Given the description of an element on the screen output the (x, y) to click on. 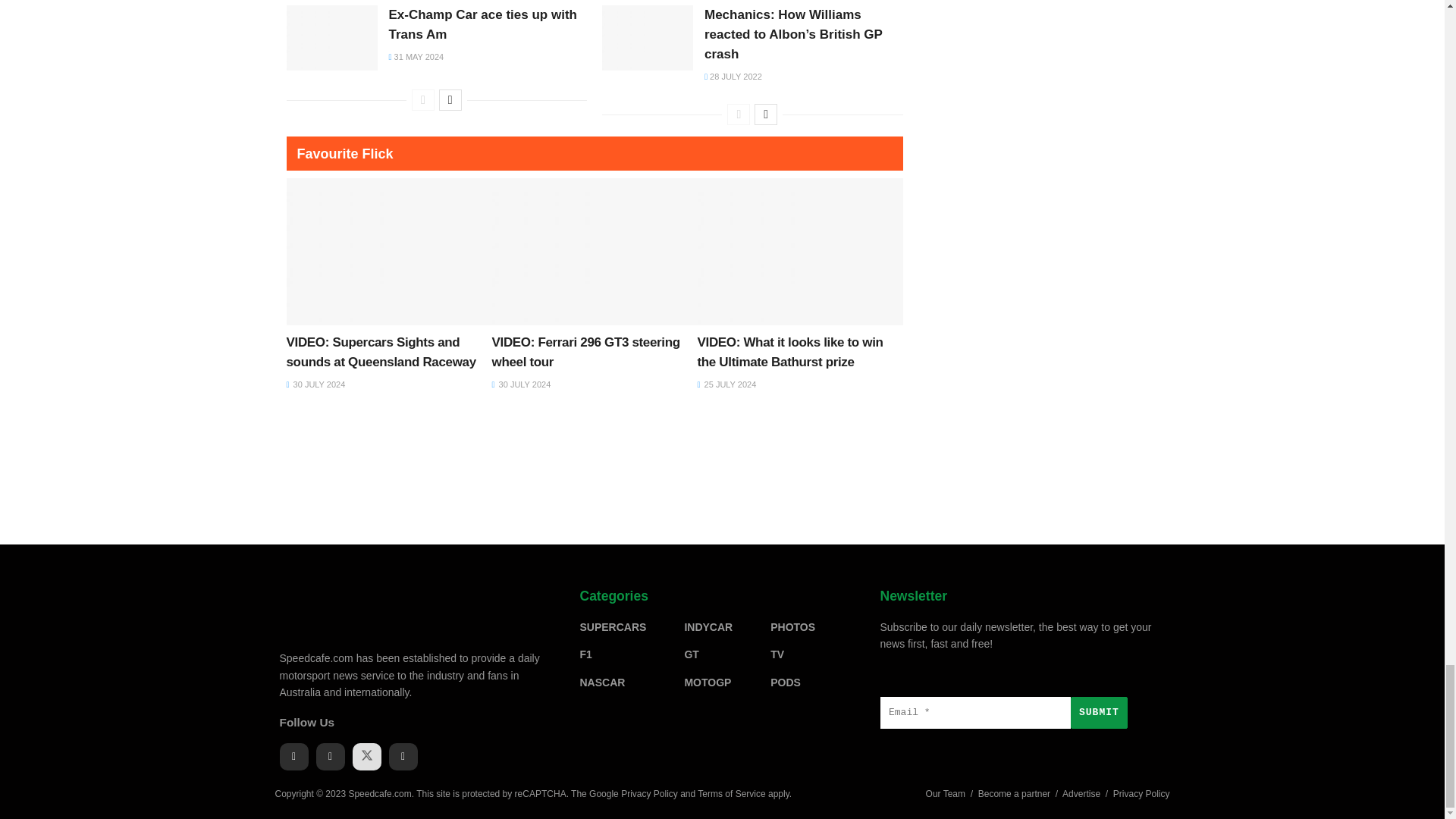
SUBMIT (1098, 712)
